Given the description of an element on the screen output the (x, y) to click on. 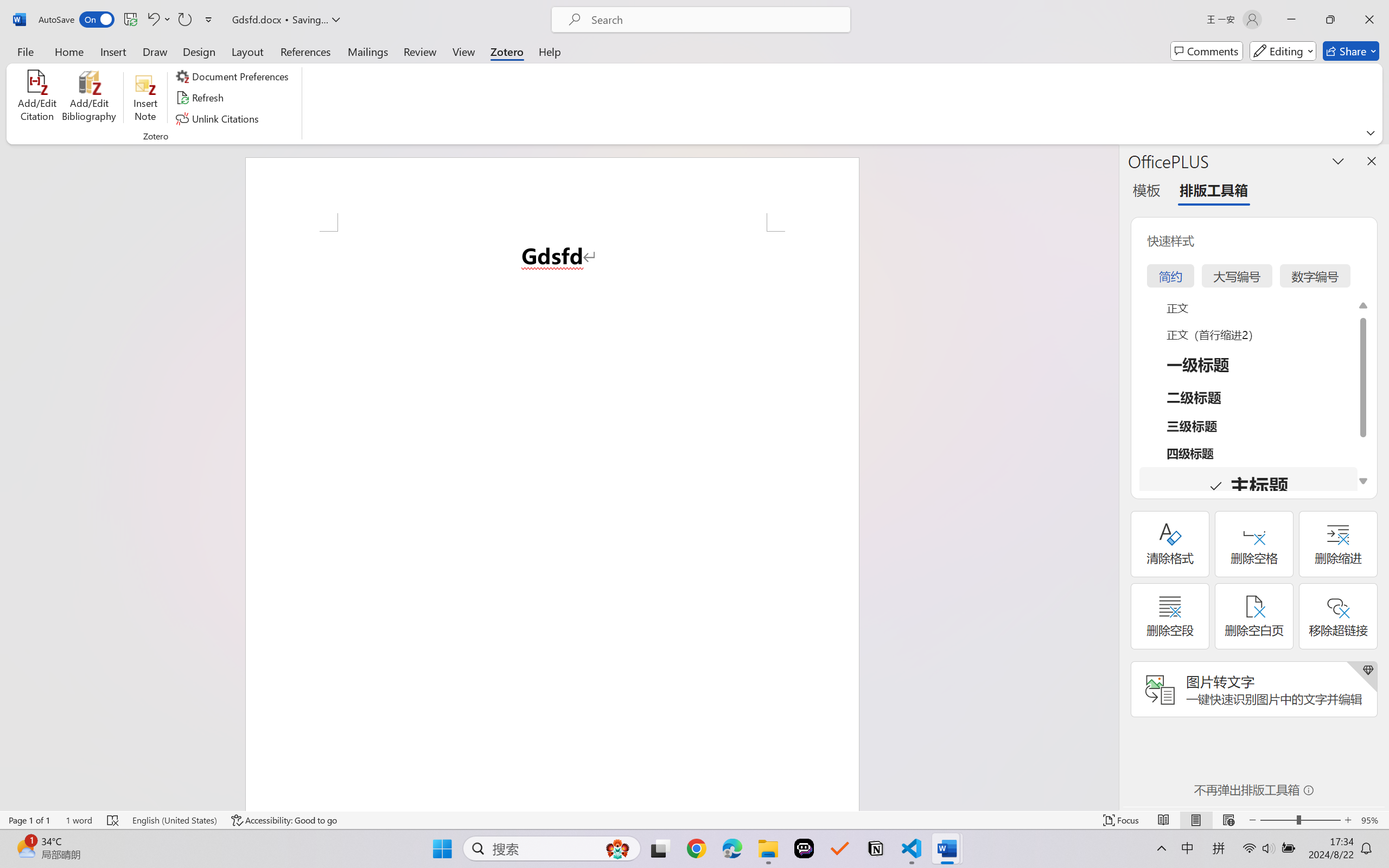
Add/Edit Bibliography (88, 97)
Insert Note (145, 97)
